Given the description of an element on the screen output the (x, y) to click on. 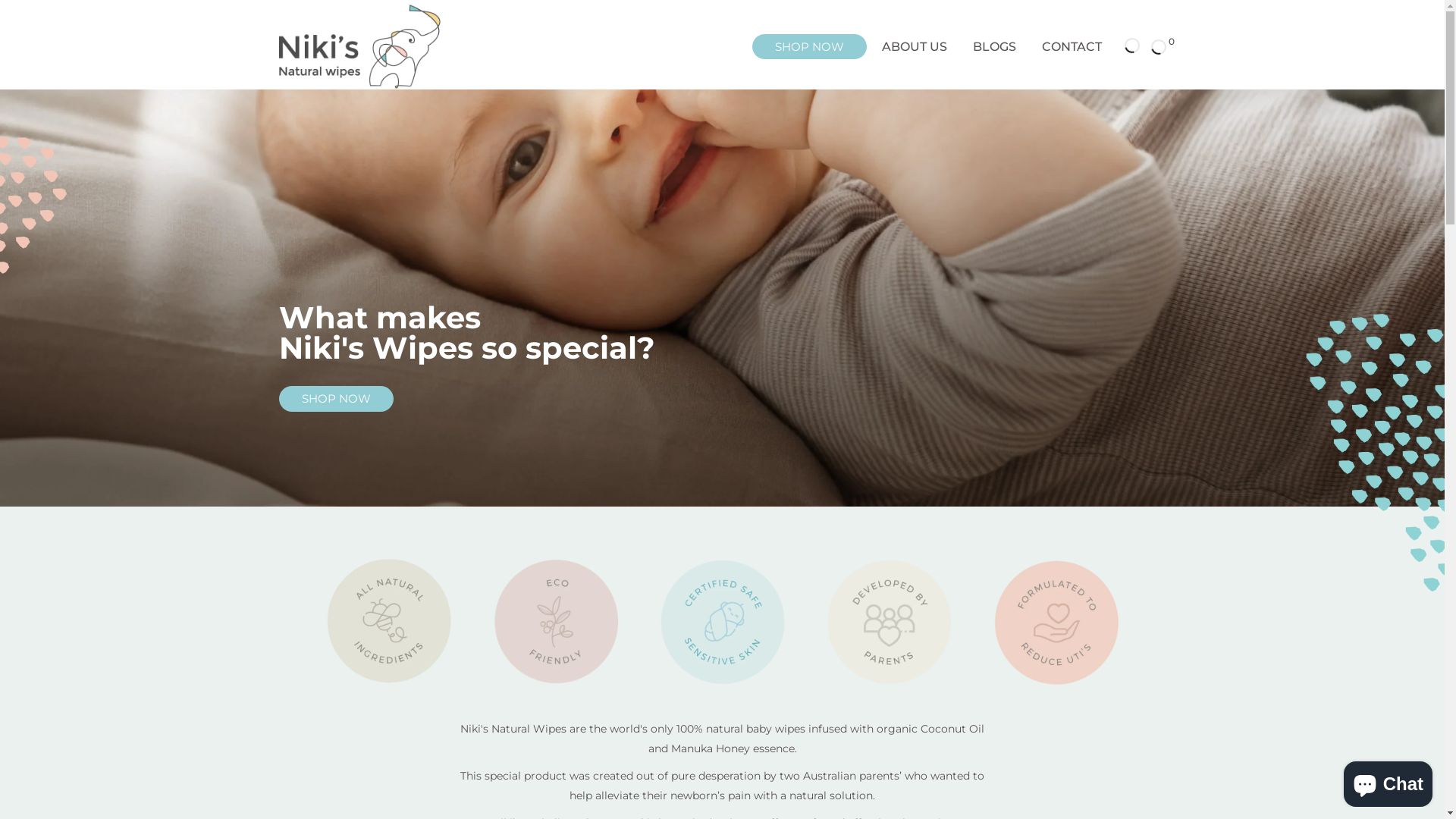
0 Element type: text (1158, 46)
CONTACT Element type: text (1070, 46)
ABOUT US Element type: text (914, 46)
SHOP NOW Element type: text (809, 45)
SHOP NOW Element type: text (336, 398)
Shopify online store chat Element type: hover (1388, 780)
BLOGS Element type: text (994, 46)
